Given the description of an element on the screen output the (x, y) to click on. 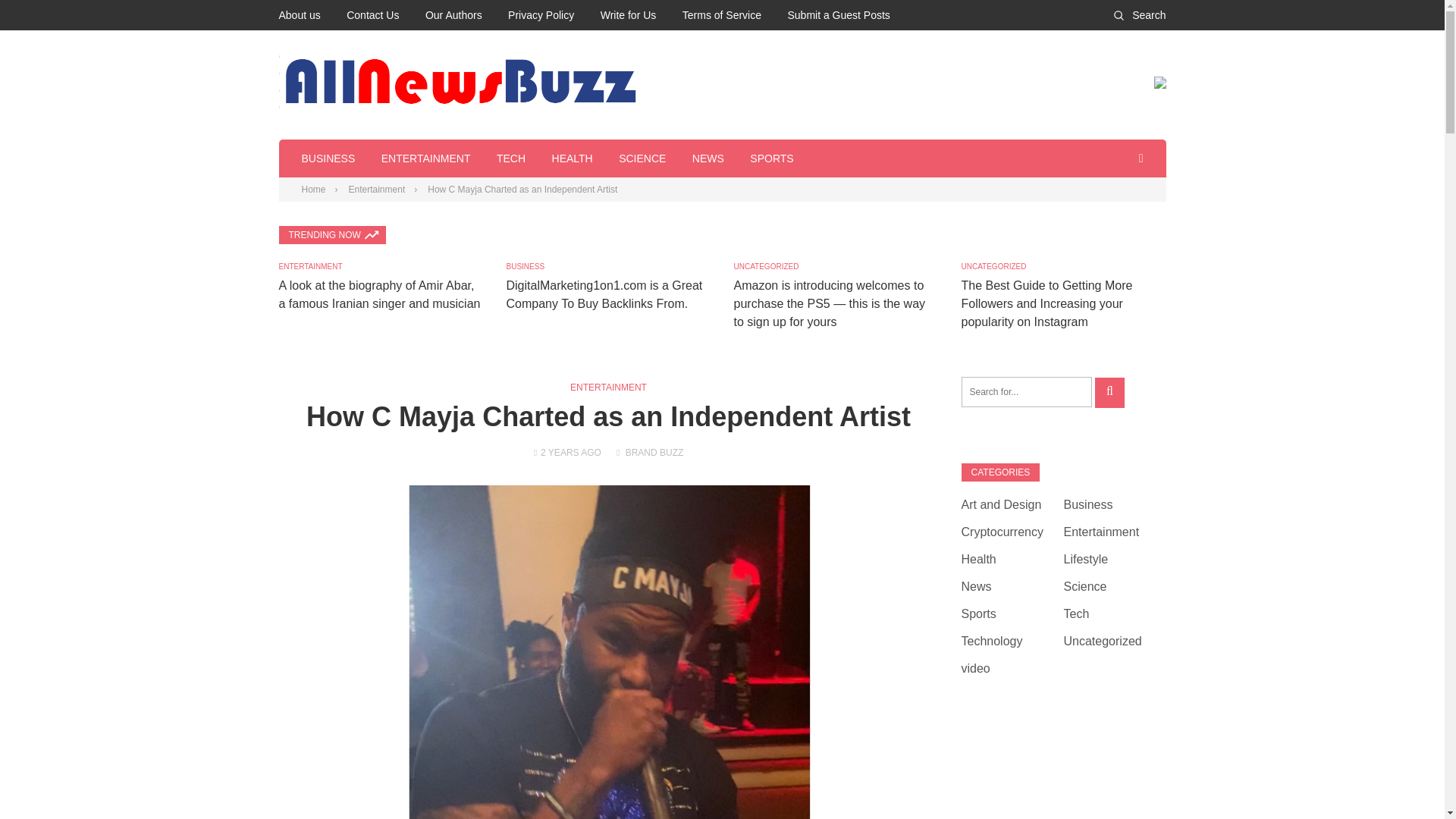
BUSINESS (328, 158)
Contact Us (372, 15)
SPORTS (771, 158)
Entertainment (377, 189)
Search (1139, 15)
Submit a Guest Posts (838, 15)
BUSINESS (525, 266)
Our Authors (453, 15)
Terms of Service (721, 15)
Search for: (1026, 391)
HEALTH (571, 158)
Home (313, 189)
ENTERTAINMENT (310, 266)
ENTERTAINMENT (425, 158)
